Given the description of an element on the screen output the (x, y) to click on. 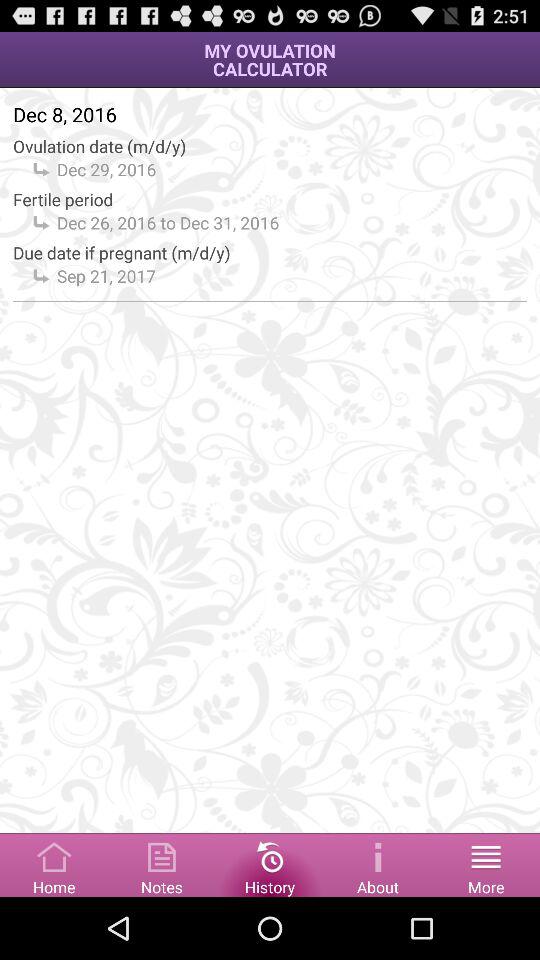
click on home page button (54, 864)
